Given the description of an element on the screen output the (x, y) to click on. 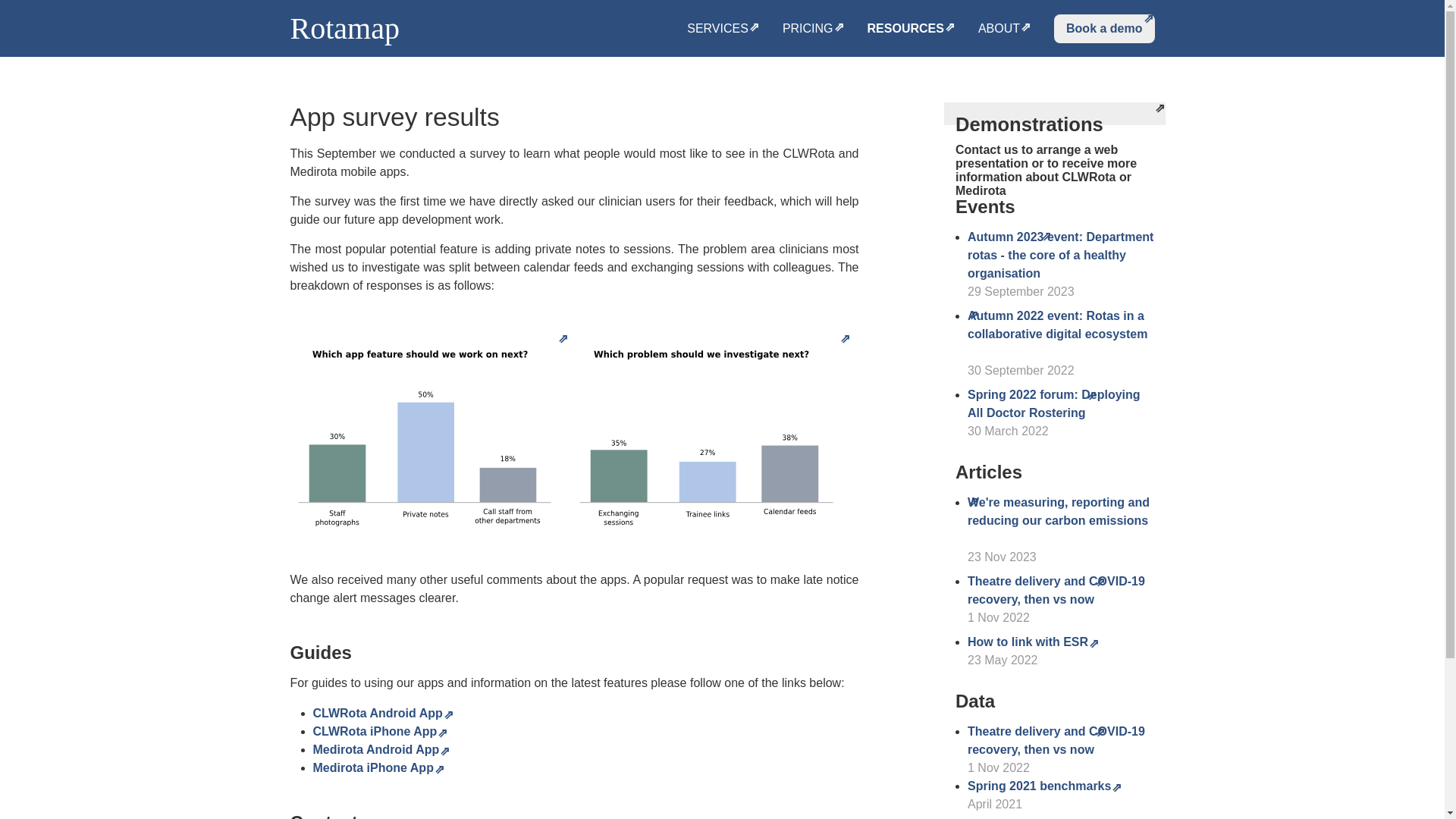
Spring 2022 forum: Deploying All Doctor Rostering (1054, 403)
ABOUT (1004, 28)
CLWRota iPhone App (380, 730)
RESOURCES (911, 28)
Rotamap (349, 28)
CLWRota Android App (382, 712)
Theatre delivery and COVID-19 recovery, then vs now (1056, 739)
Spring 2021 benchmarks (1045, 785)
How to link with ESR (1033, 641)
Medirota Android App (381, 748)
Theatre delivery and COVID-19 recovery, then vs now (1056, 590)
Book a demo (1104, 27)
